Given the description of an element on the screen output the (x, y) to click on. 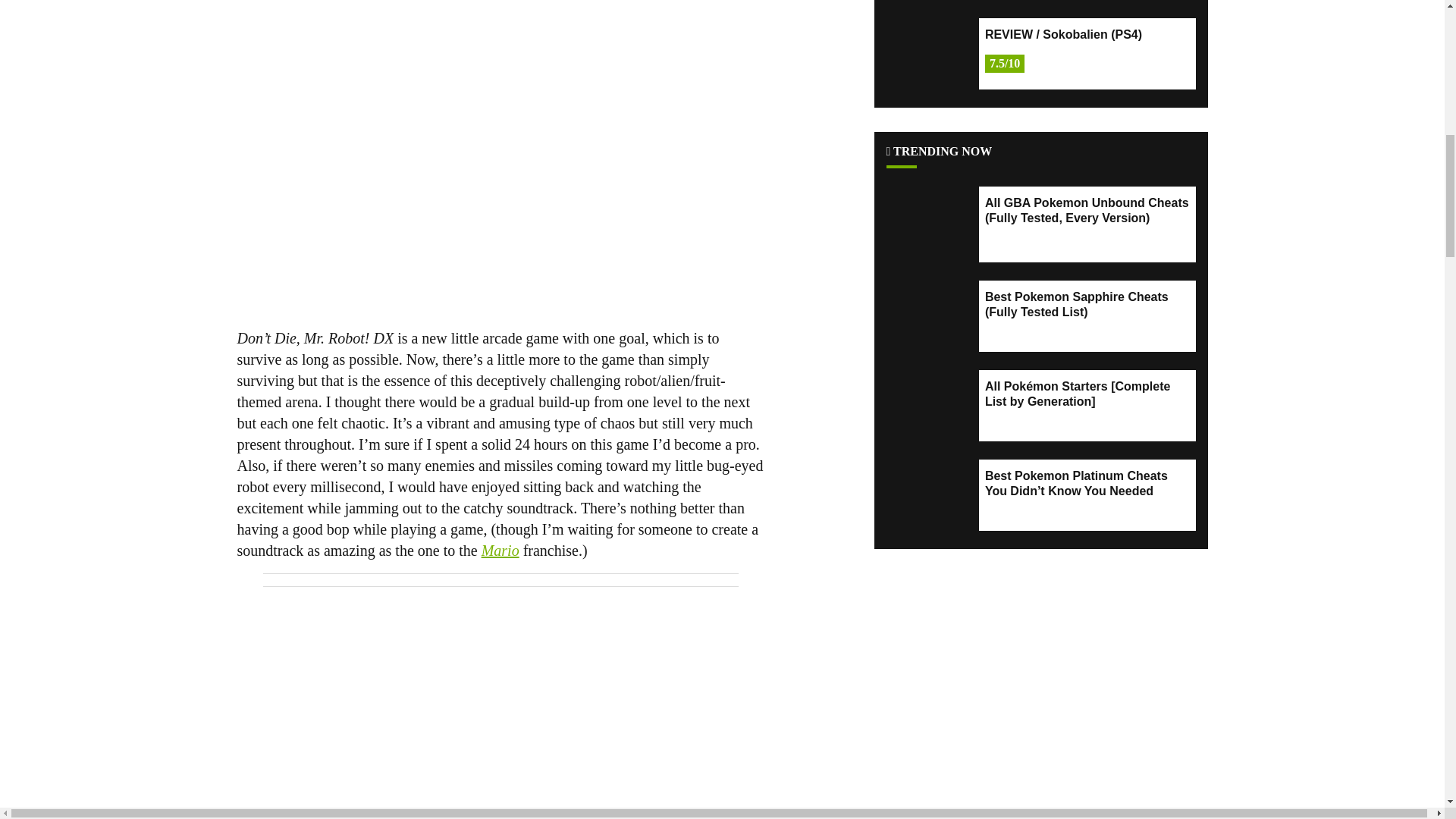
Scroll back to top (1406, 708)
